Given the description of an element on the screen output the (x, y) to click on. 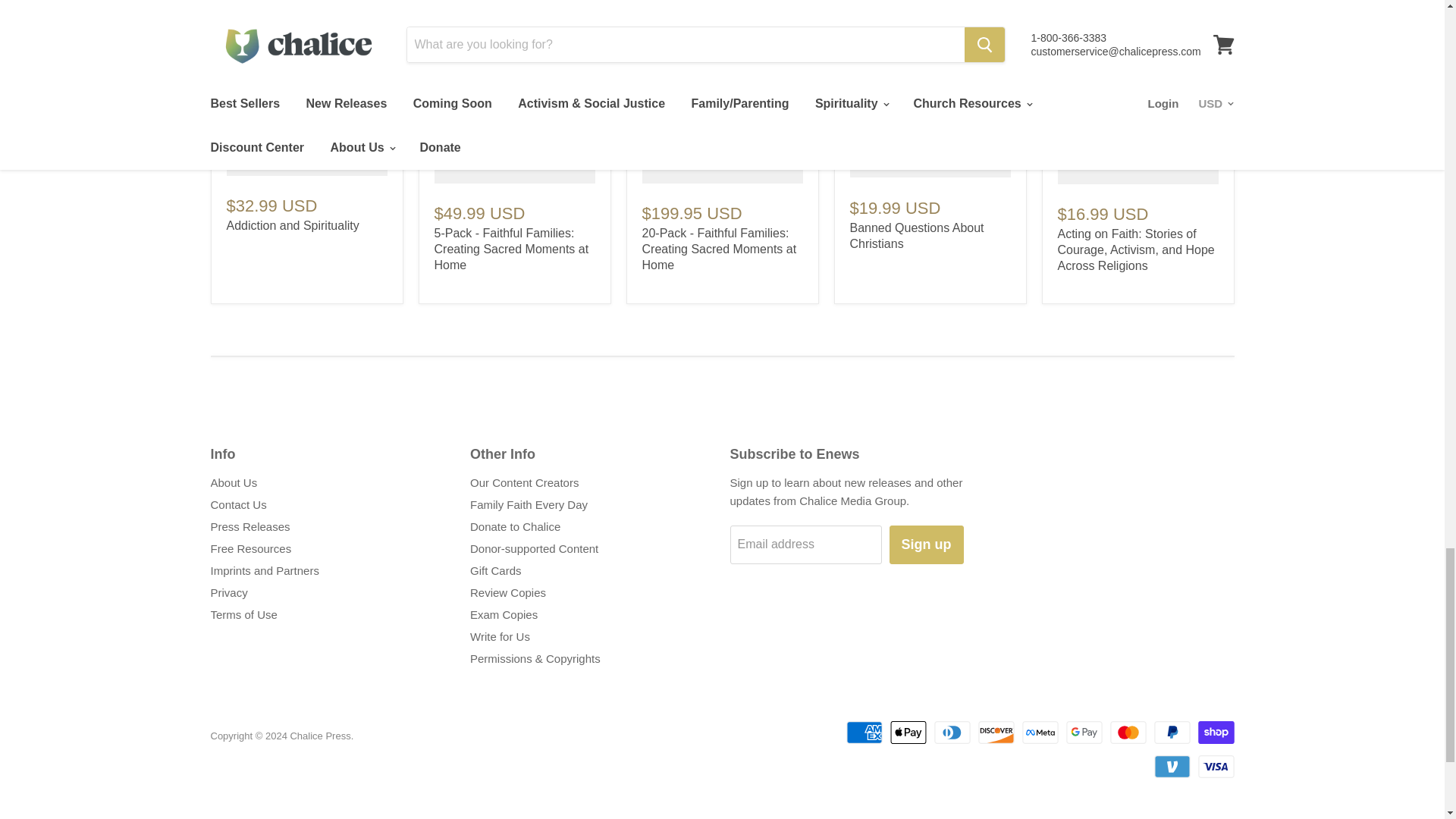
Mastercard (1128, 732)
Discover (996, 732)
Diners Club (952, 732)
American Express (863, 732)
Google Pay (1083, 732)
PayPal (1172, 732)
Apple Pay (907, 732)
Meta Pay (1040, 732)
